Given the description of an element on the screen output the (x, y) to click on. 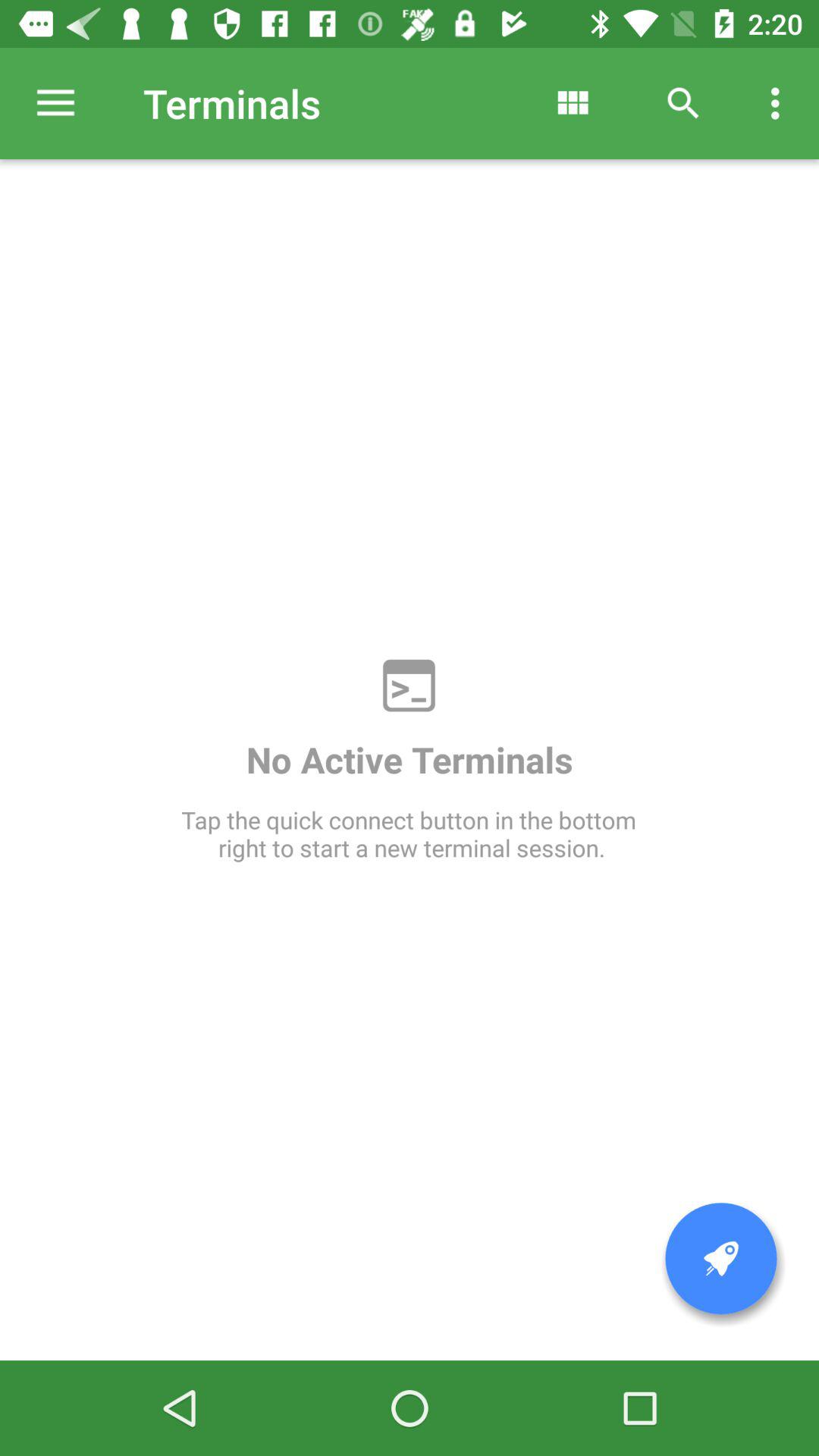
click the item next to the terminals item (571, 103)
